Given the description of an element on the screen output the (x, y) to click on. 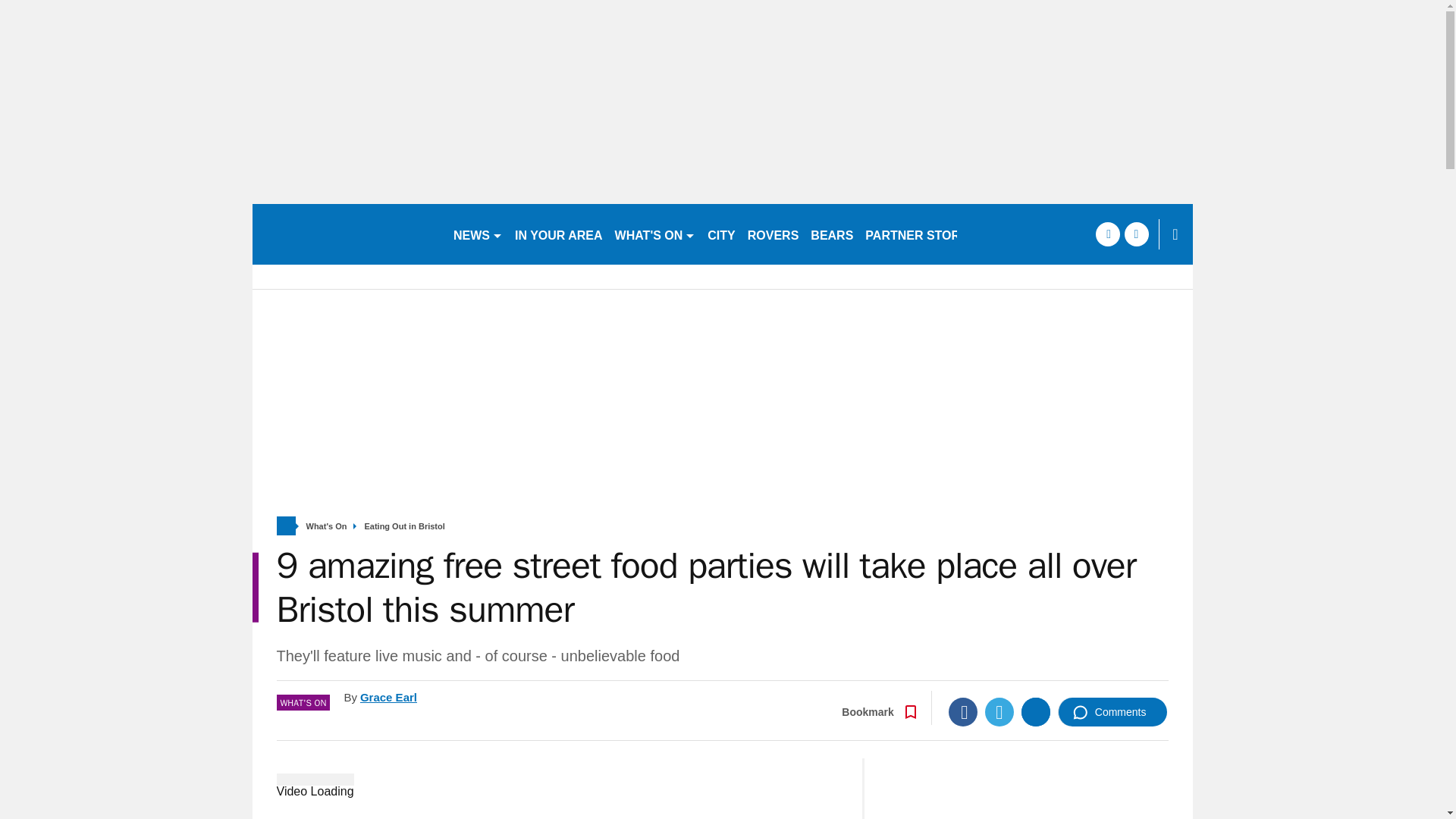
twitter (1136, 233)
BEARS (832, 233)
PARTNER STORIES (922, 233)
Twitter (999, 711)
Comments (1112, 711)
Facebook (962, 711)
IN YOUR AREA (558, 233)
ROVERS (773, 233)
NEWS (477, 233)
bristolpost (345, 233)
facebook (1106, 233)
WHAT'S ON (654, 233)
